Given the description of an element on the screen output the (x, y) to click on. 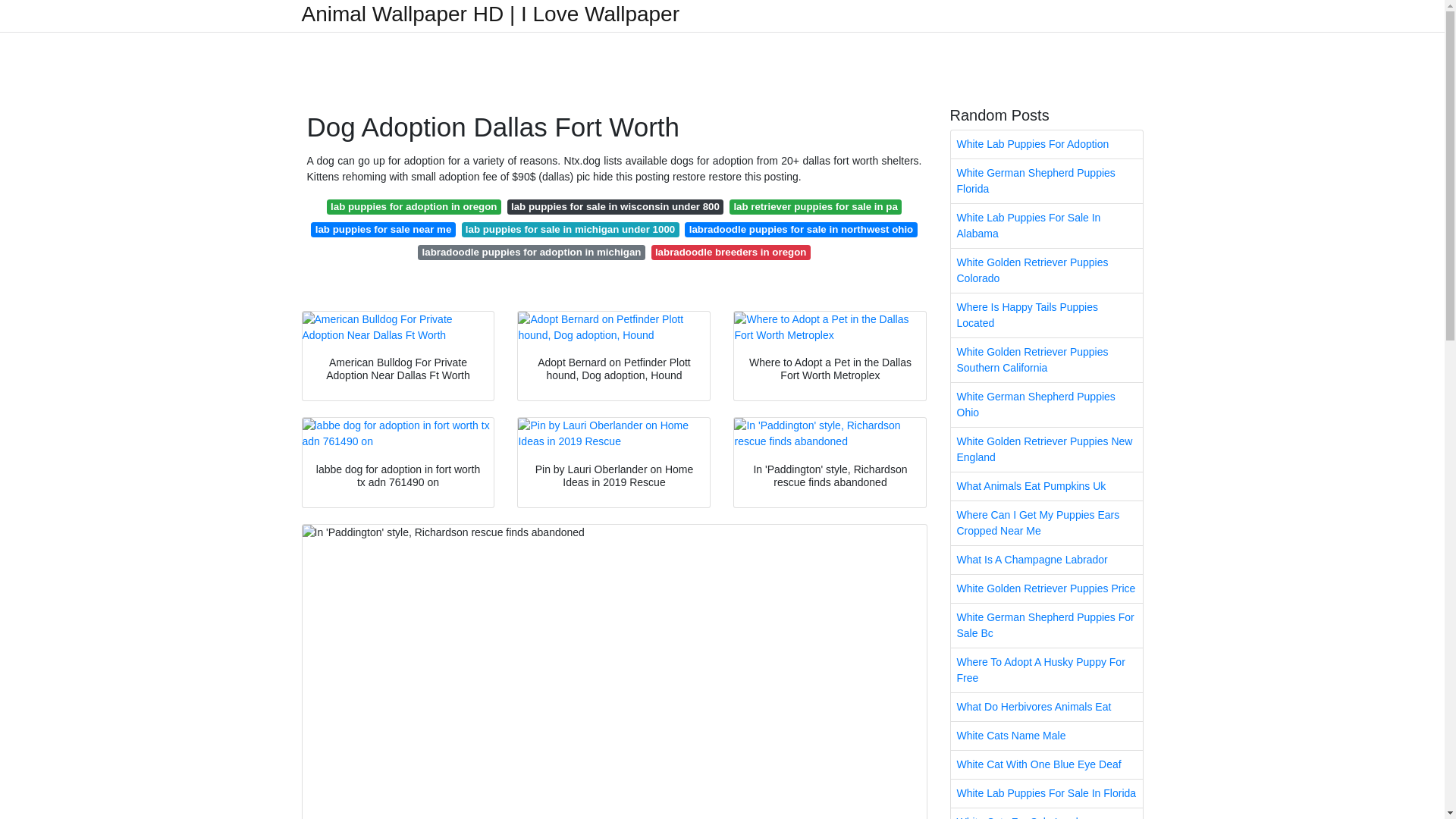
Where Can I Get My Puppies Ears Cropped Near Me (1046, 523)
Where Is Happy Tails Puppies Located (1046, 315)
lab puppies for sale in wisconsin under 800 (614, 206)
What Animals Eat Pumpkins Uk (1046, 486)
labradoodle puppies for sale in northwest ohio (800, 229)
lab puppies for sale in michigan under 1000 (570, 229)
lab puppies for sale near me (382, 229)
White German Shepherd Puppies Ohio (1046, 404)
labradoodle puppies for adoption in michigan (531, 252)
White Golden Retriever Puppies Colorado (1046, 270)
